Given the description of an element on the screen output the (x, y) to click on. 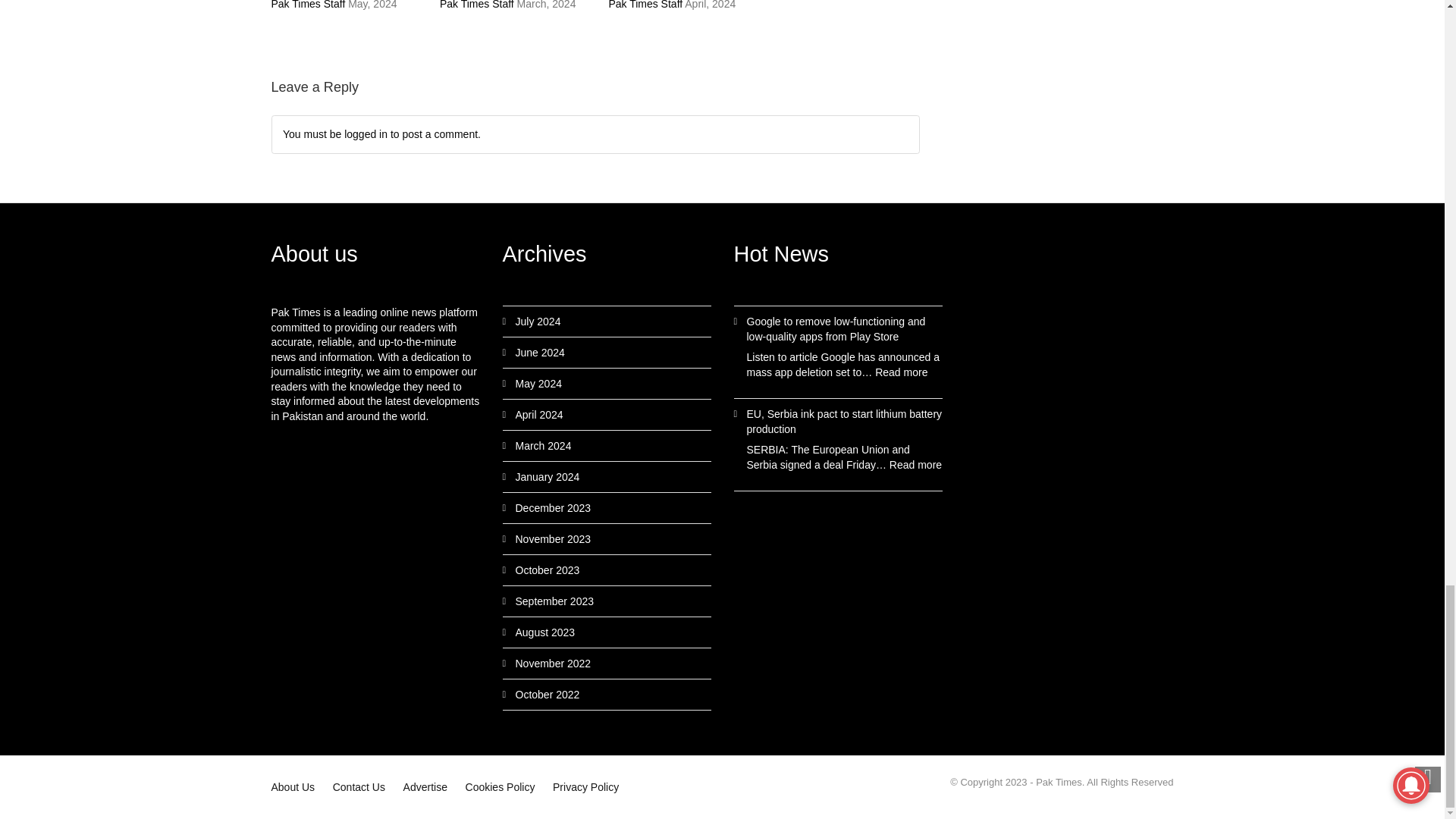
Pak Times Staff (476, 4)
Pak Times Staff (308, 4)
